Given the description of an element on the screen output the (x, y) to click on. 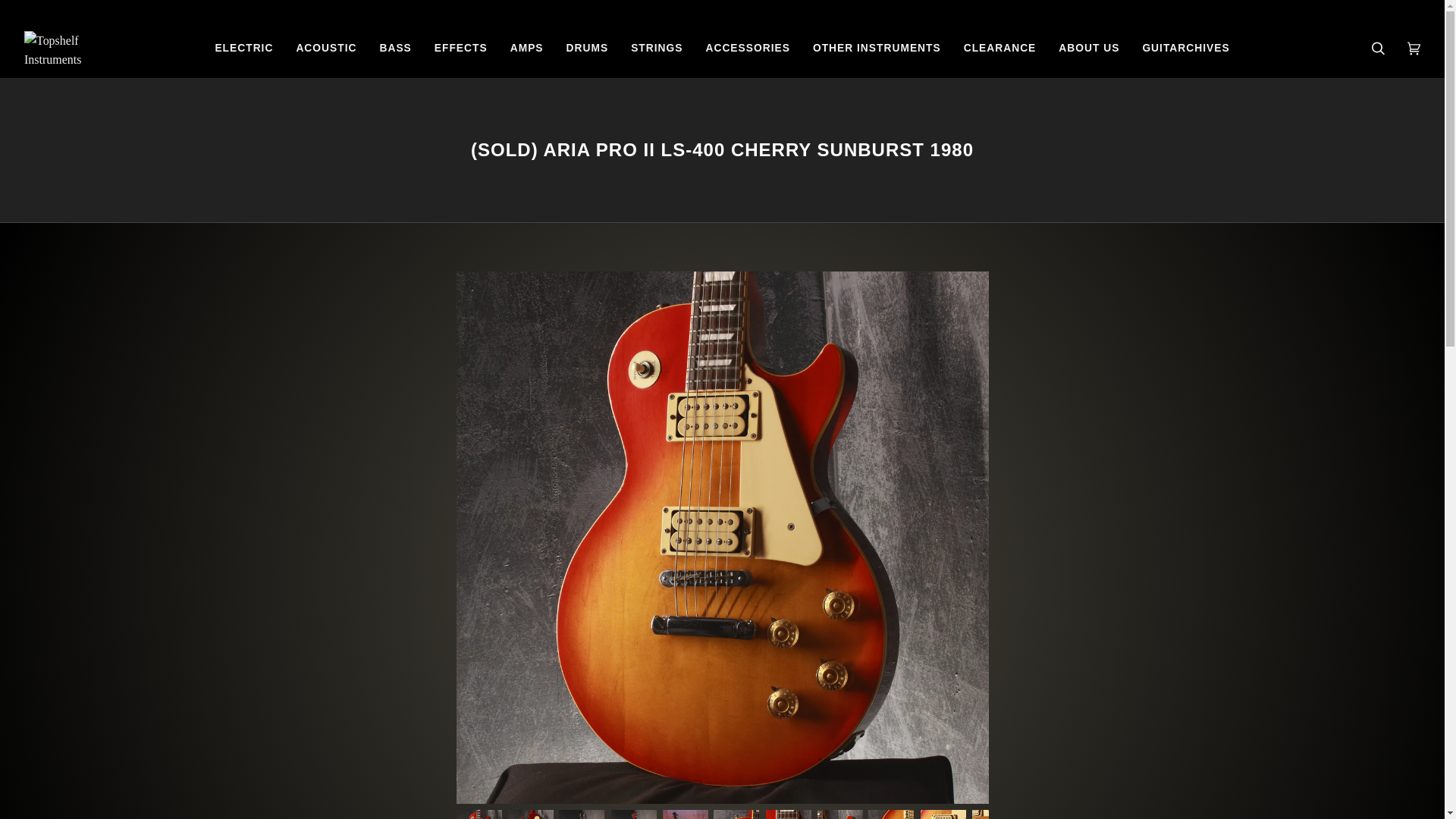
EFFECTS (461, 48)
ACOUSTIC (325, 48)
BASS (395, 48)
ELECTRIC (243, 48)
